Given the description of an element on the screen output the (x, y) to click on. 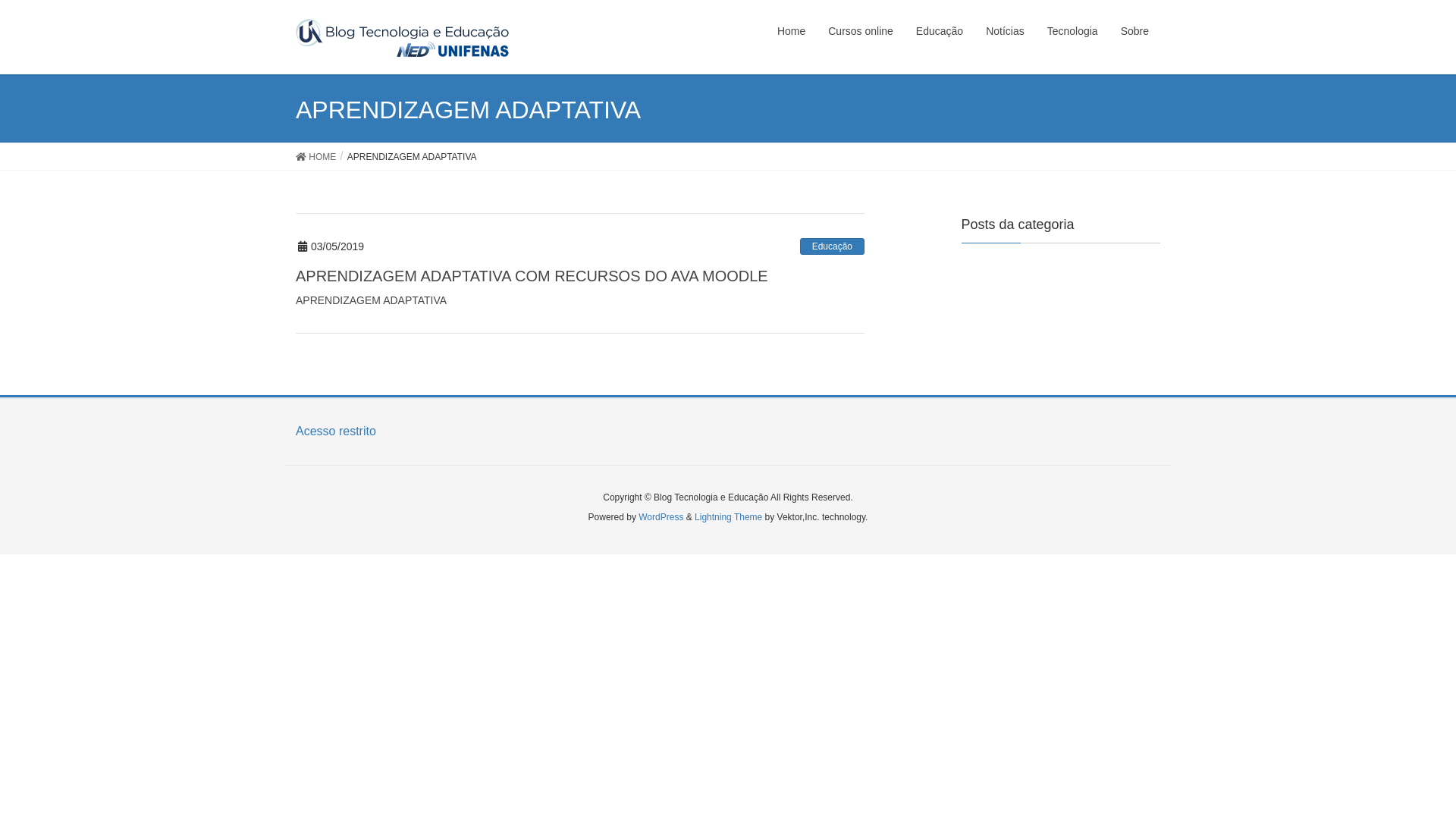
Home Element type: text (790, 31)
APRENDIZAGEM ADAPTATIVA Element type: text (579, 300)
Lightning Theme Element type: text (728, 516)
Acesso restrito Element type: text (335, 430)
WordPress Element type: text (660, 516)
HOME Element type: text (315, 156)
Tecnologia Element type: text (1072, 31)
APRENDIZAGEM ADAPTATIVA COM RECURSOS DO AVA MOODLE Element type: text (531, 275)
Sobre Element type: text (1134, 31)
Cursos online Element type: text (860, 31)
